Given the description of an element on the screen output the (x, y) to click on. 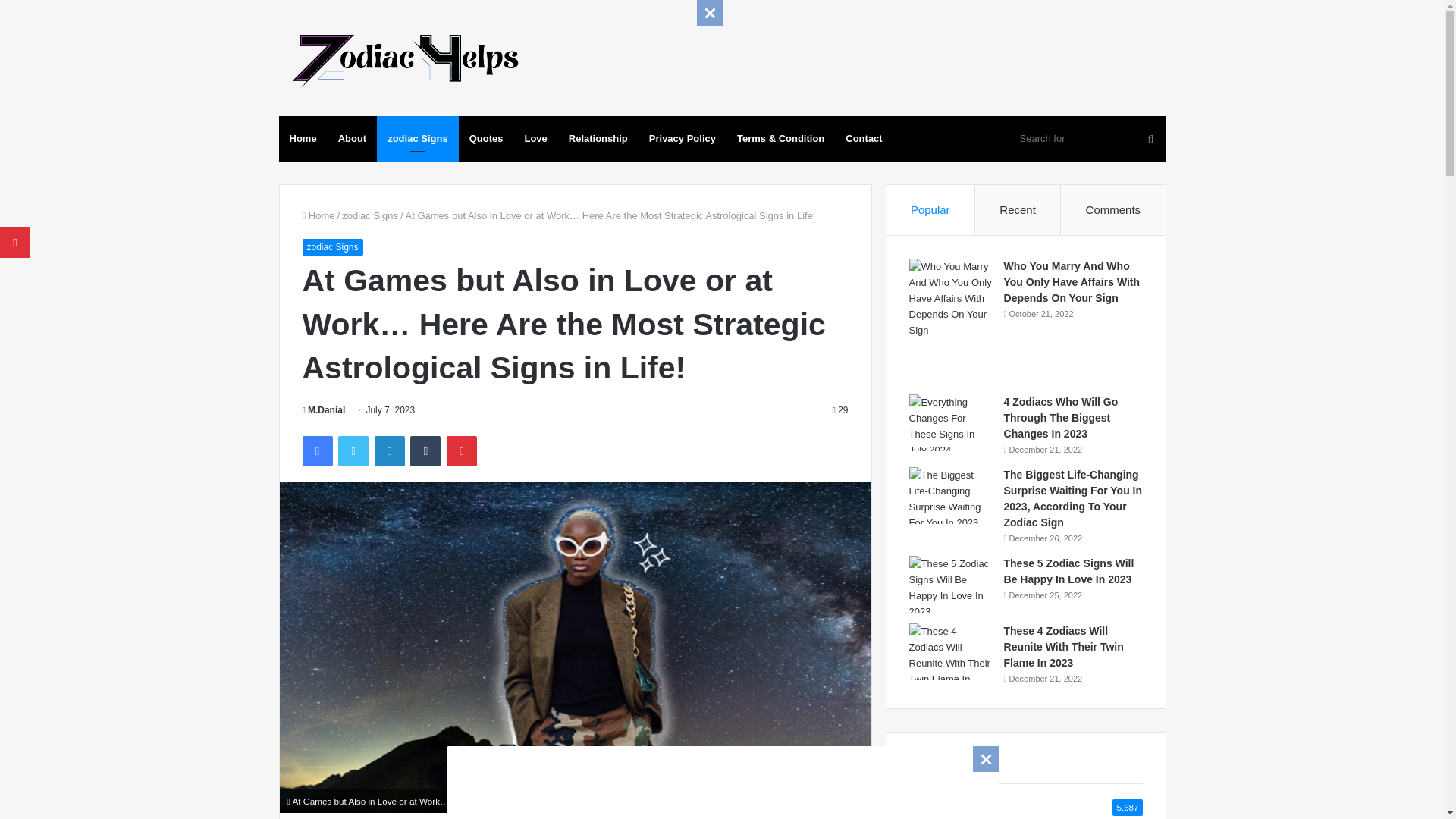
Home (317, 215)
Pinterest (461, 450)
Search for (1088, 138)
Contact (863, 138)
Tumblr (425, 450)
Tumblr (425, 450)
ZodiacHelps (403, 57)
M.Danial (323, 409)
LinkedIn (389, 450)
Twitter (352, 450)
